Given the description of an element on the screen output the (x, y) to click on. 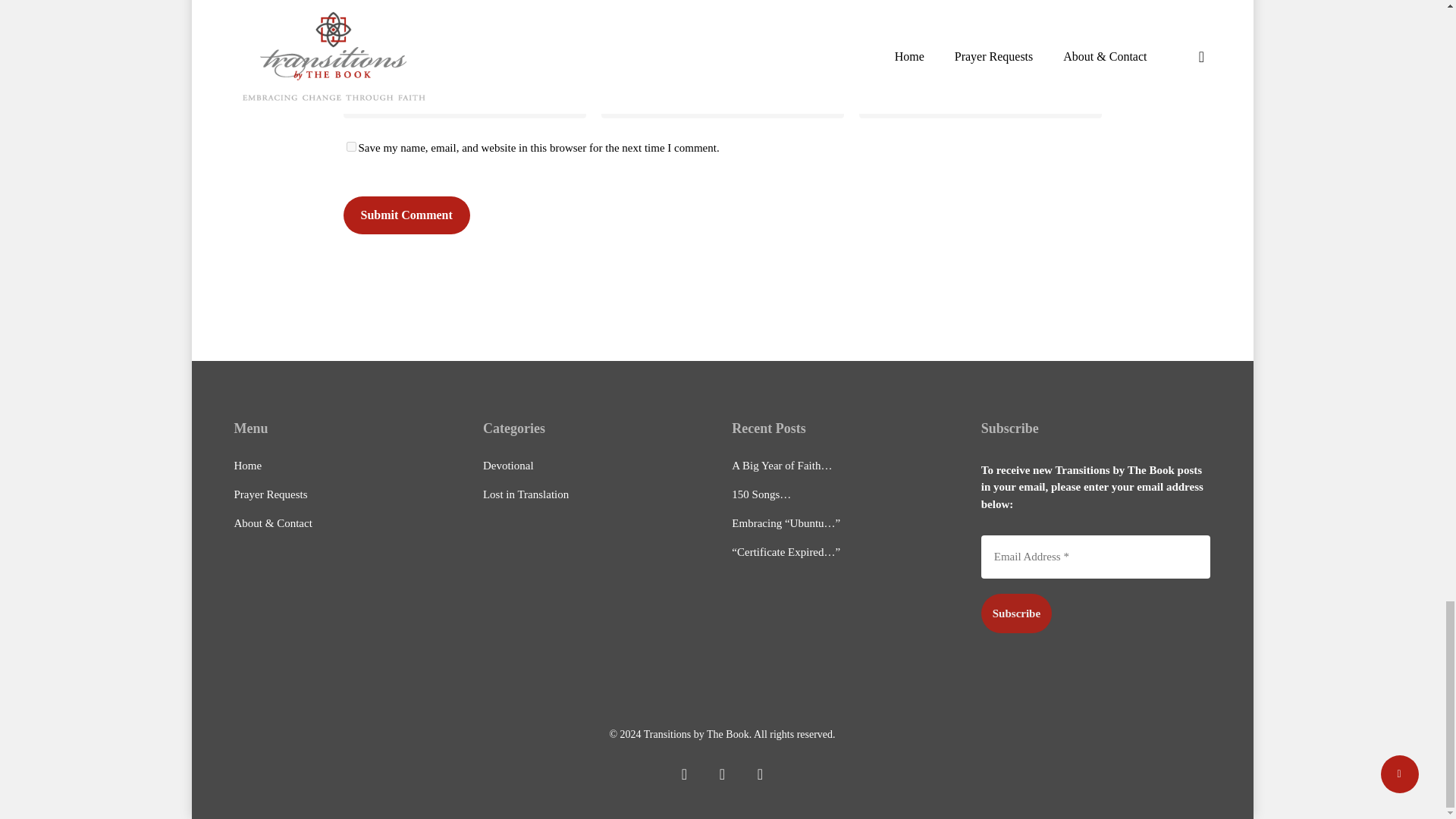
yes (350, 146)
Subscribe (1016, 613)
Submit Comment (405, 215)
Email Address (1096, 556)
Submit Comment (405, 215)
